Given the description of an element on the screen output the (x, y) to click on. 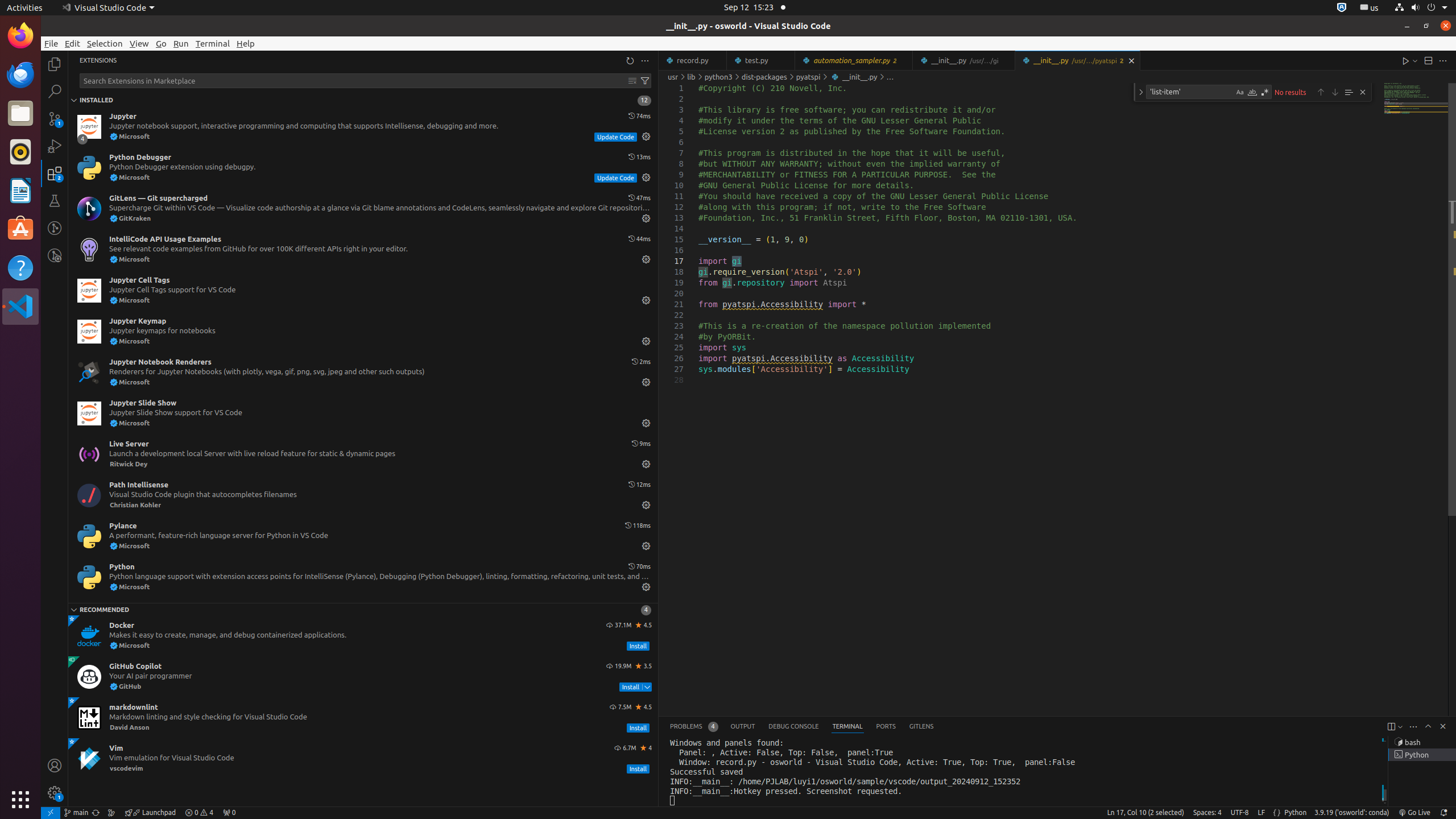
Find in Selection (Alt+L) Element type: check-box (1348, 91)
Edit Element type: push-button (72, 43)
broadcast Go Live, Click to run live server Element type: push-button (1414, 812)
Close (Ctrl+W) Element type: push-button (1131, 60)
